Given the description of an element on the screen output the (x, y) to click on. 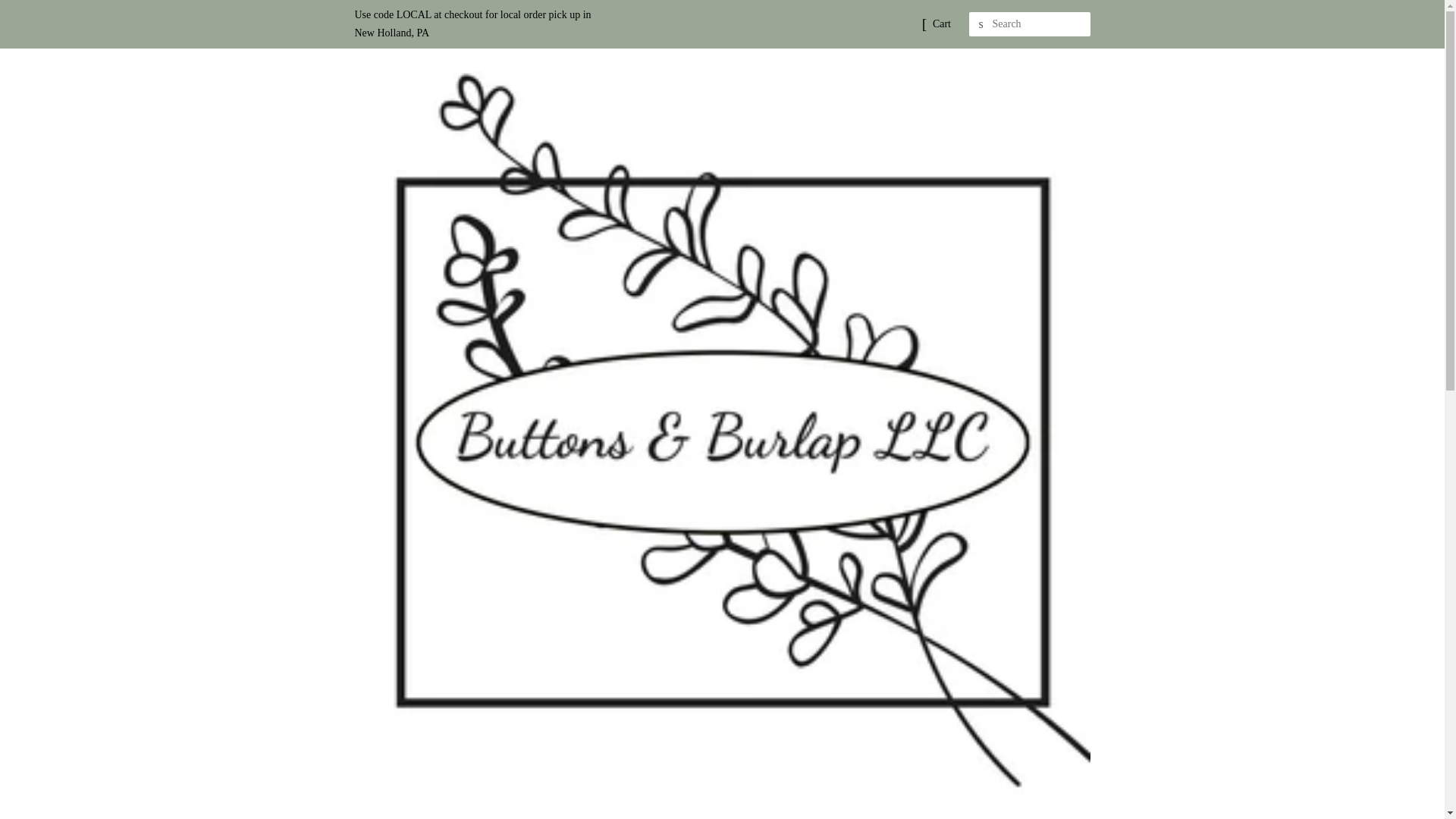
Search (980, 24)
Shop (677, 815)
Cart (941, 24)
Home (610, 815)
